Given the description of an element on the screen output the (x, y) to click on. 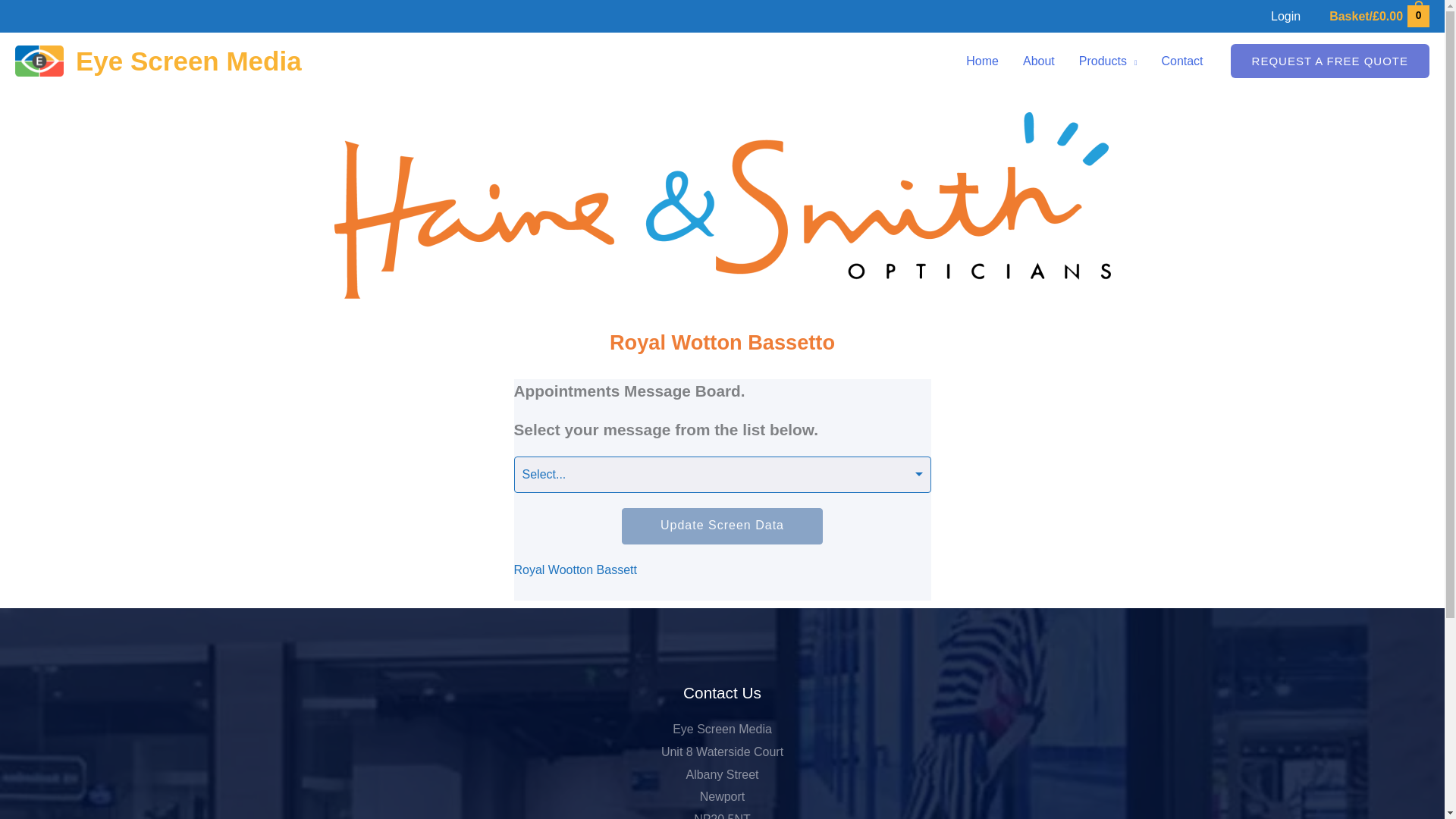
Login (1286, 15)
About (1038, 60)
REQUEST A FREE QUOTE (1329, 60)
Home (981, 60)
Contact (1181, 60)
Products (1108, 60)
Eye Screen Media (188, 60)
